Given the description of an element on the screen output the (x, y) to click on. 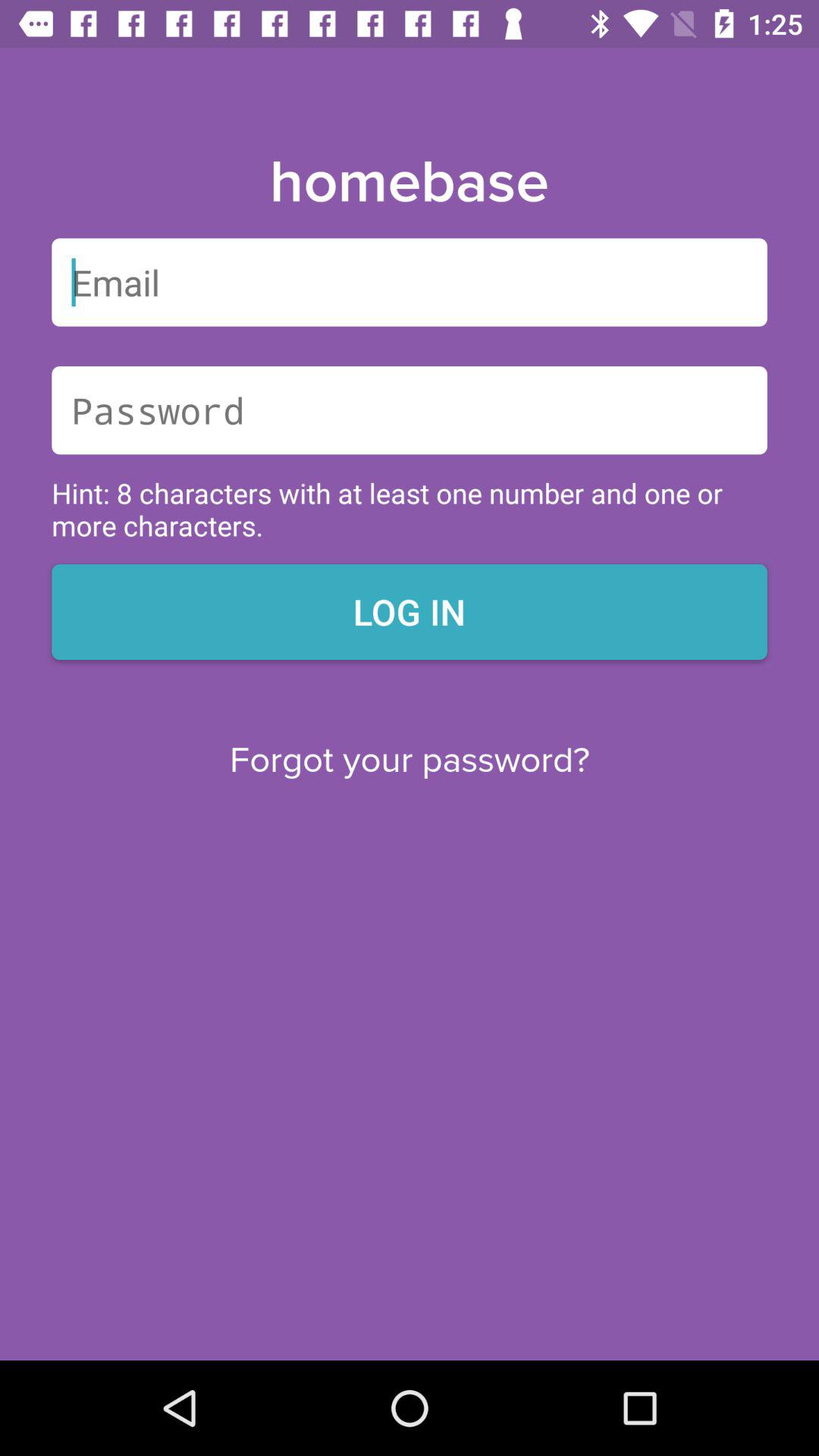
turn off icon above the forgot your password? icon (409, 611)
